Given the description of an element on the screen output the (x, y) to click on. 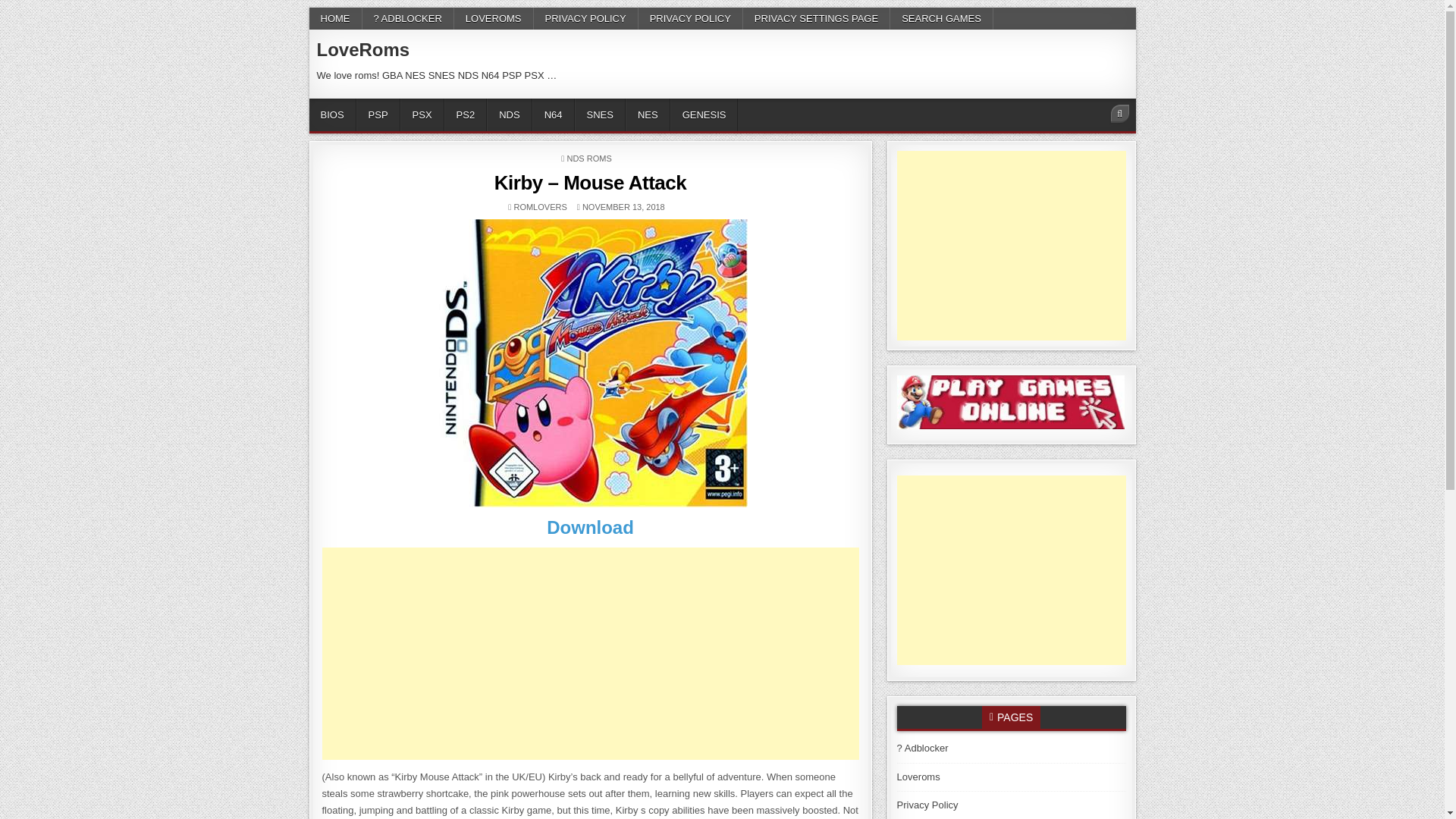
PRIVACY POLICY (690, 18)
Advertisement (590, 653)
? ADBLOCKER (408, 18)
NDS (508, 114)
Download (590, 526)
NES (647, 114)
SNES (600, 114)
BIOS (332, 114)
HOME (335, 18)
SEARCH GAMES (940, 18)
PRIVACY POLICY (586, 18)
GENESIS (703, 114)
ROMLOVERS (539, 206)
PSP (378, 114)
NDS ROMS (588, 157)
